Given the description of an element on the screen output the (x, y) to click on. 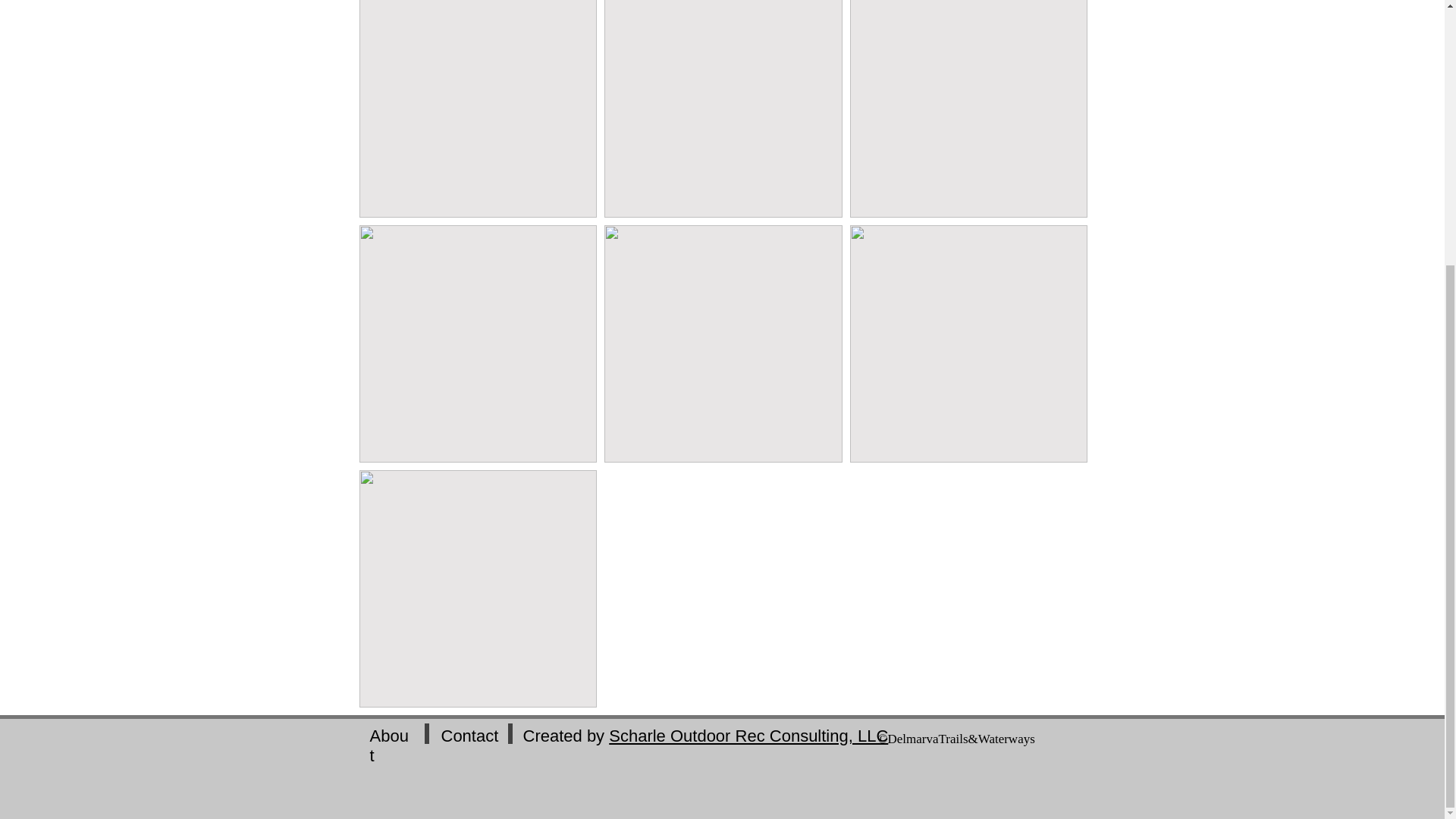
Scharle Outdoor Rec Consulting, LLC (748, 735)
About (389, 745)
Contact (470, 735)
